Given the description of an element on the screen output the (x, y) to click on. 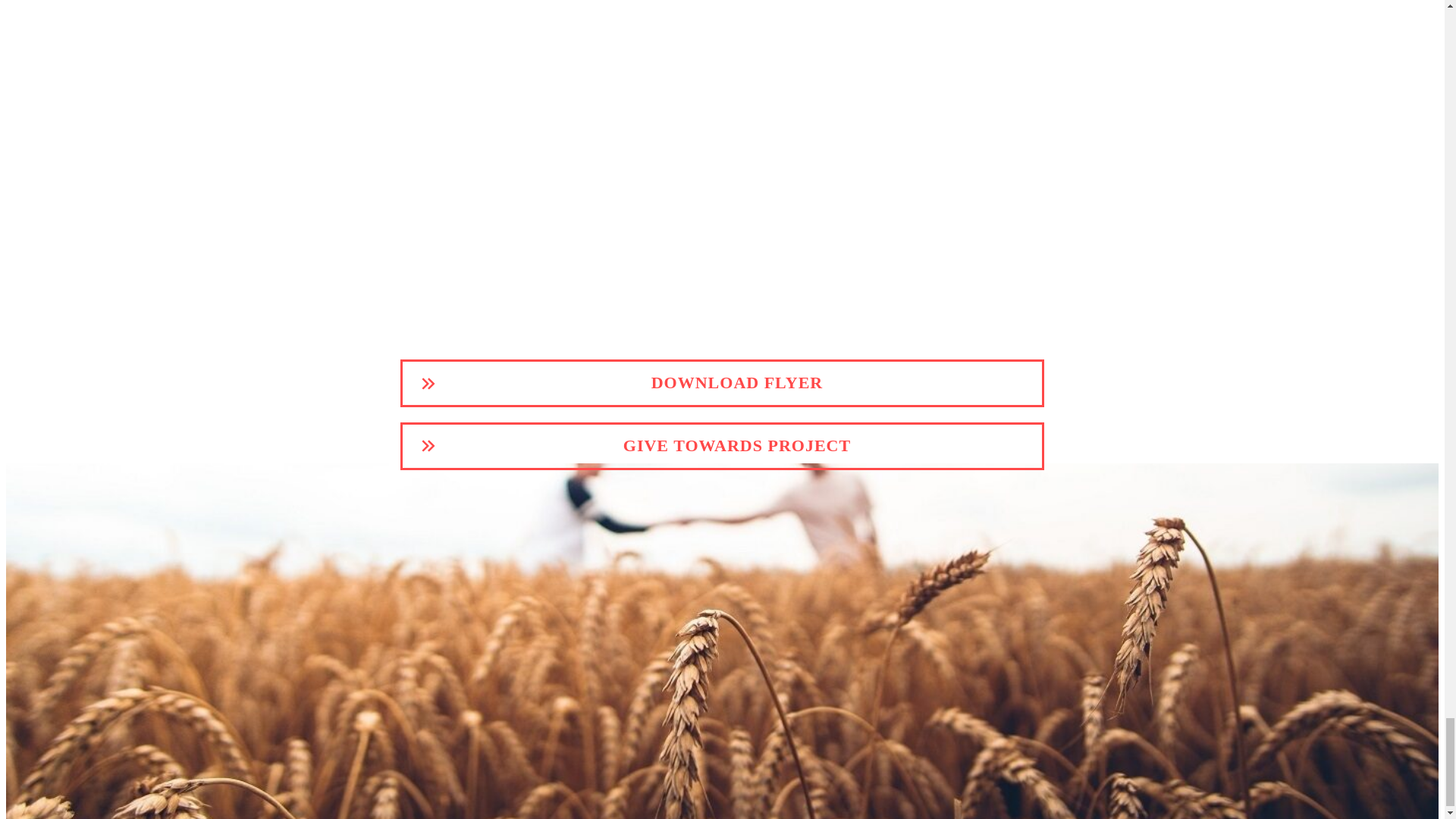
GIVE TOWARDS PROJECT (721, 446)
DOWNLOAD FLYER (721, 383)
GIVE TOWARDS PROJECT (721, 446)
